Given the description of an element on the screen output the (x, y) to click on. 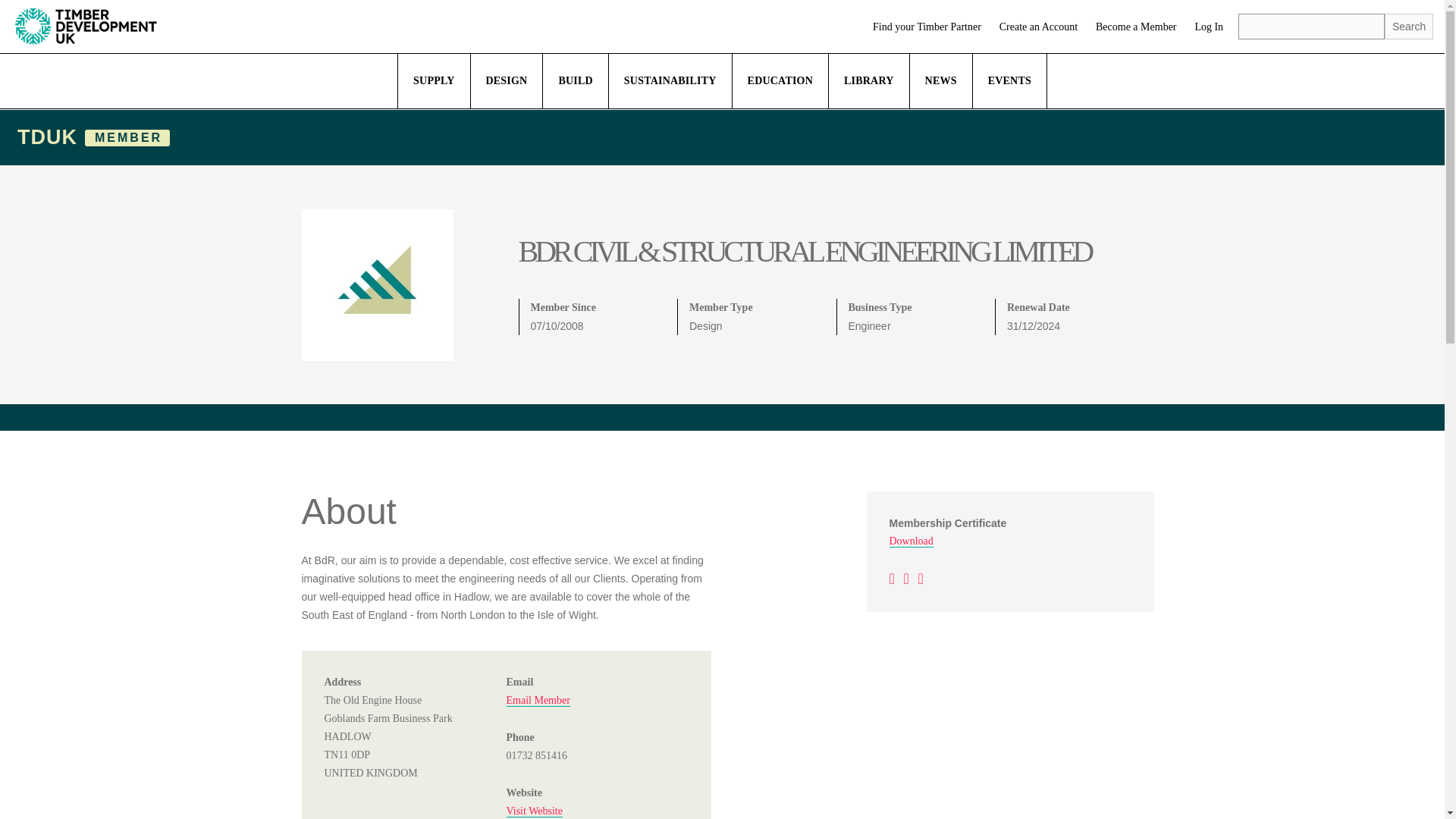
EDUCATION (780, 81)
Visit Website (534, 811)
Create an Account (1037, 26)
Email Member (538, 700)
Search (1408, 26)
Find your Timber Partner (926, 26)
LIBRARY (868, 81)
Log In (1208, 26)
Download (910, 541)
SUSTAINABILITY (670, 81)
Become a Member (1136, 26)
